Given the description of an element on the screen output the (x, y) to click on. 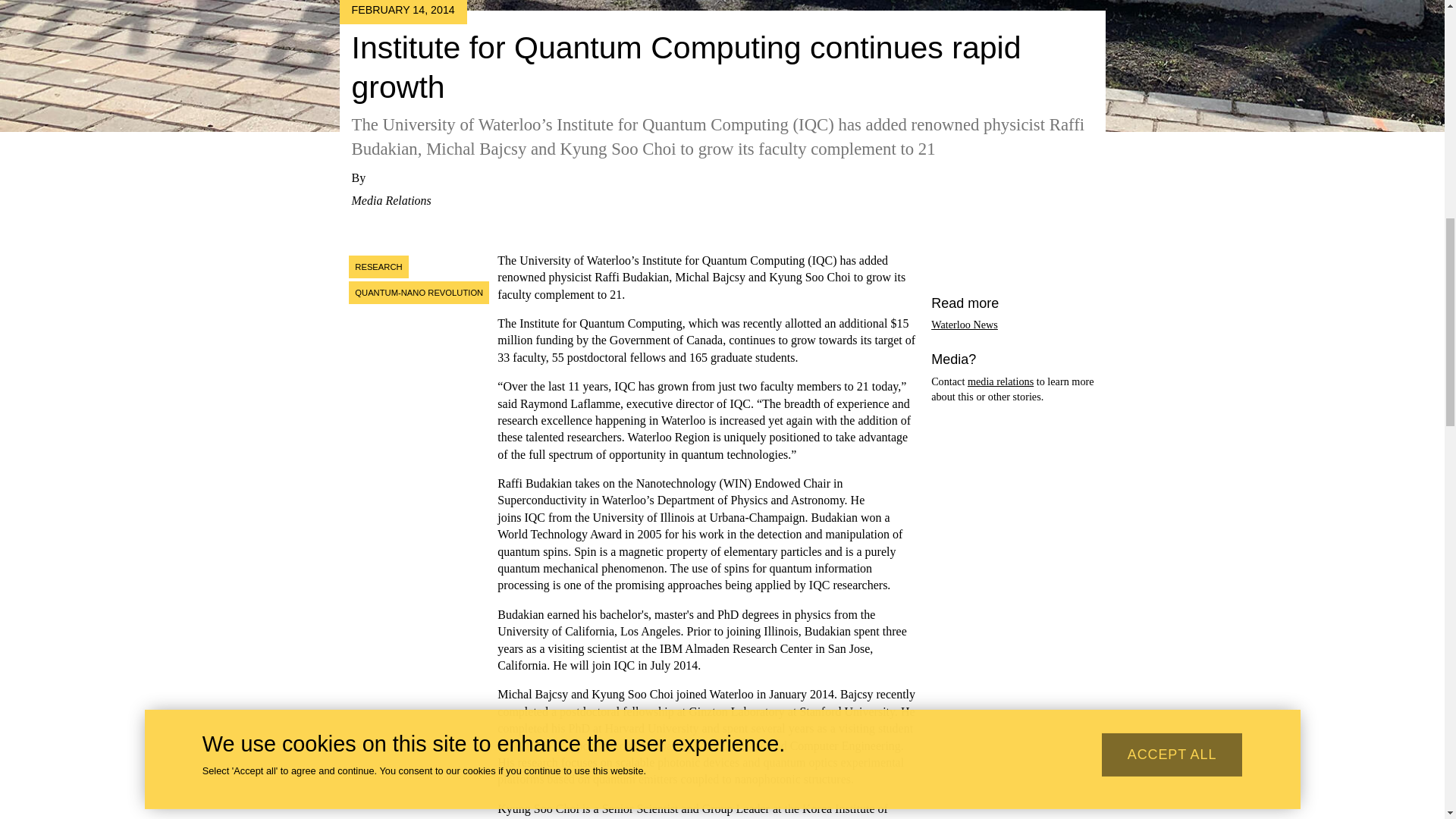
media relations (1000, 381)
Waterloo News (964, 324)
RESEARCH (378, 266)
QUANTUM-NANO REVOLUTION (419, 292)
